Given the description of an element on the screen output the (x, y) to click on. 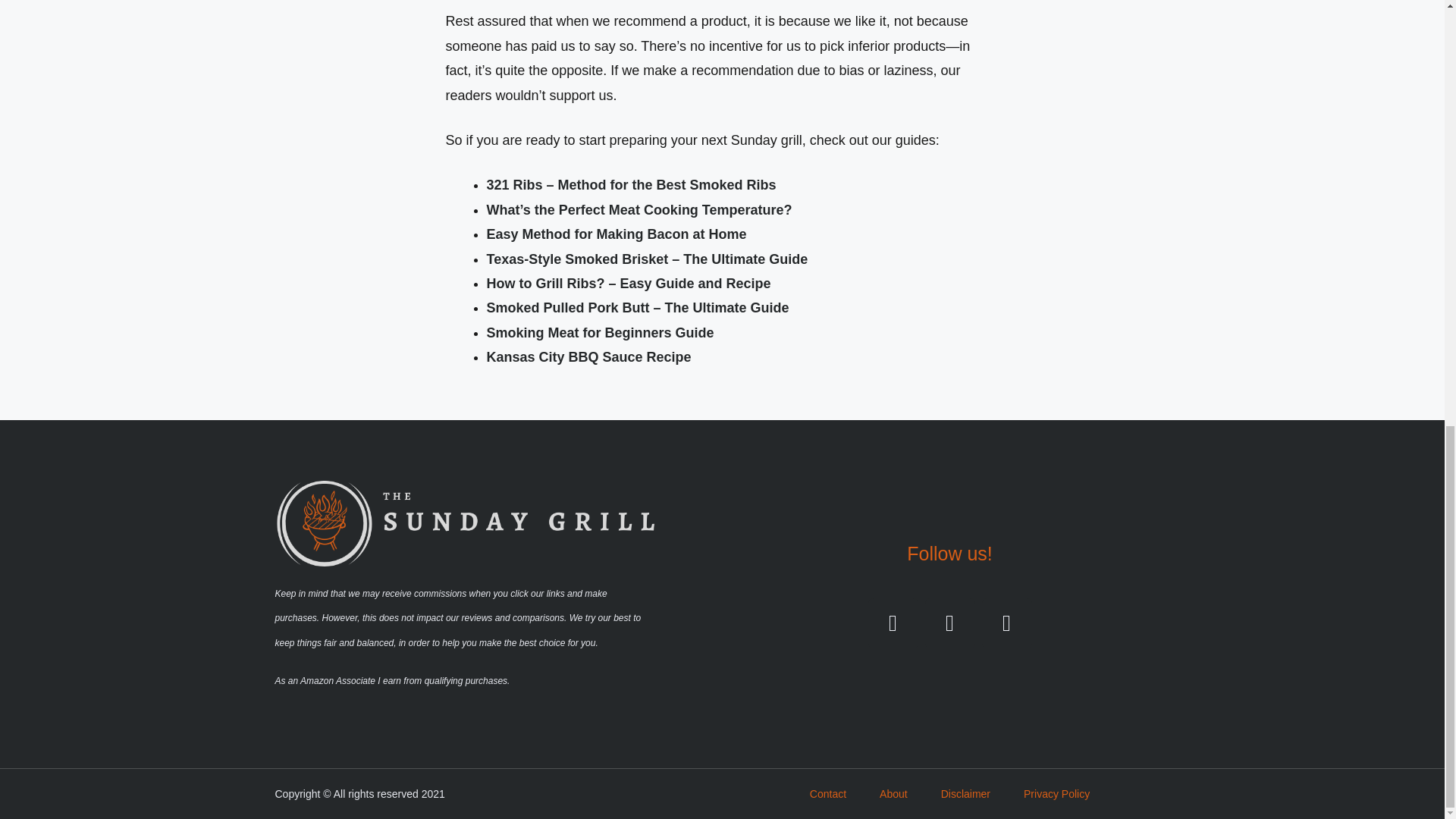
Privacy Policy (1056, 793)
Easy Method for Making Bacon at Home (616, 233)
Smoking Meat for Beginners Guide (600, 332)
Contact (827, 793)
Kansas City BBQ Sauce Recipe (588, 356)
Disclaimer (965, 793)
